Given the description of an element on the screen output the (x, y) to click on. 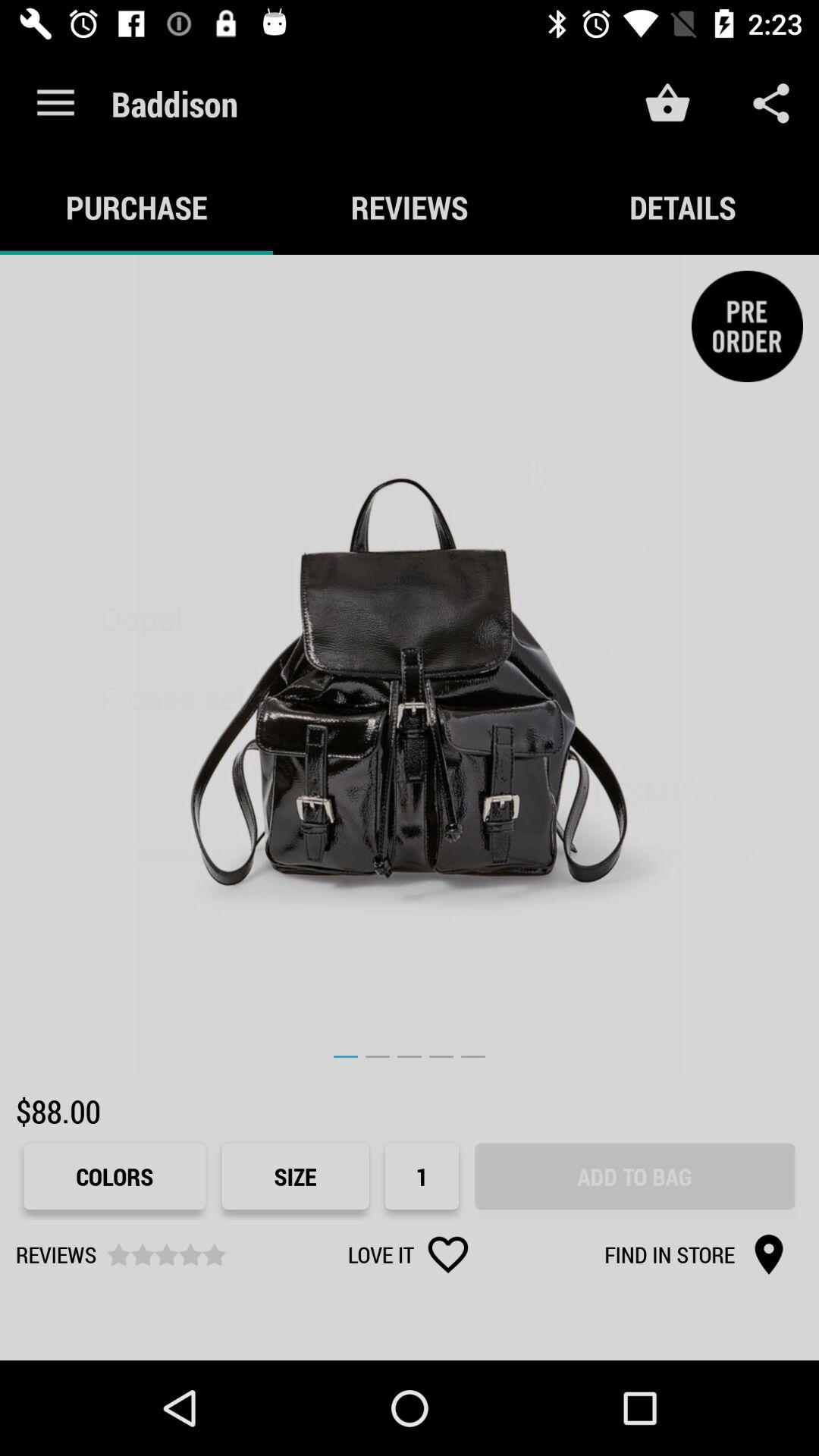
choose the icon above the $88.00 icon (409, 663)
